Given the description of an element on the screen output the (x, y) to click on. 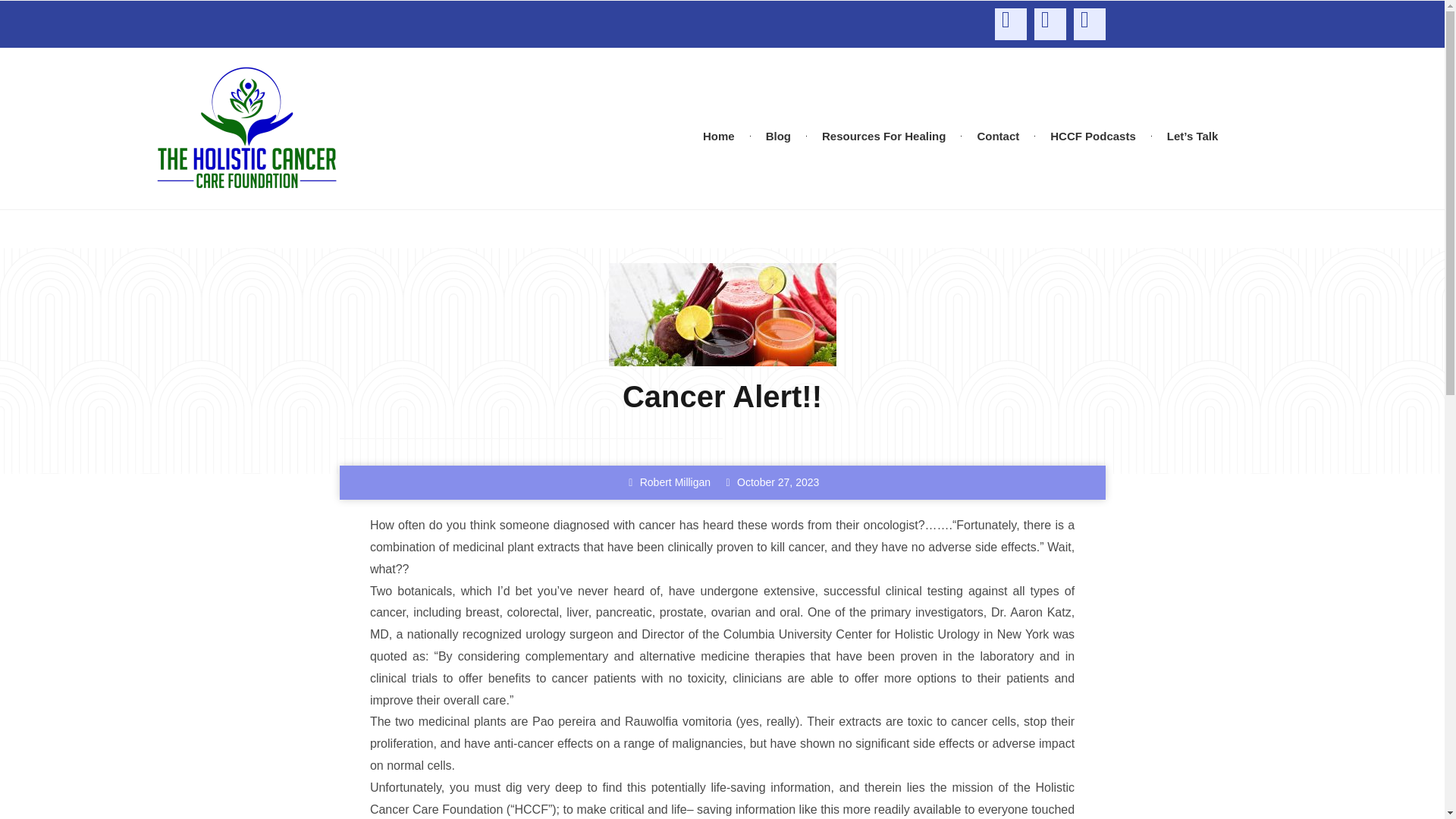
CancerTreatmentHeader (721, 314)
Resources For Healing (883, 135)
Home (718, 135)
Contact (996, 135)
HCCF Podcasts (1093, 135)
October 27, 2023 (770, 482)
Blog (778, 135)
Robert Milligan (668, 482)
